Given the description of an element on the screen output the (x, y) to click on. 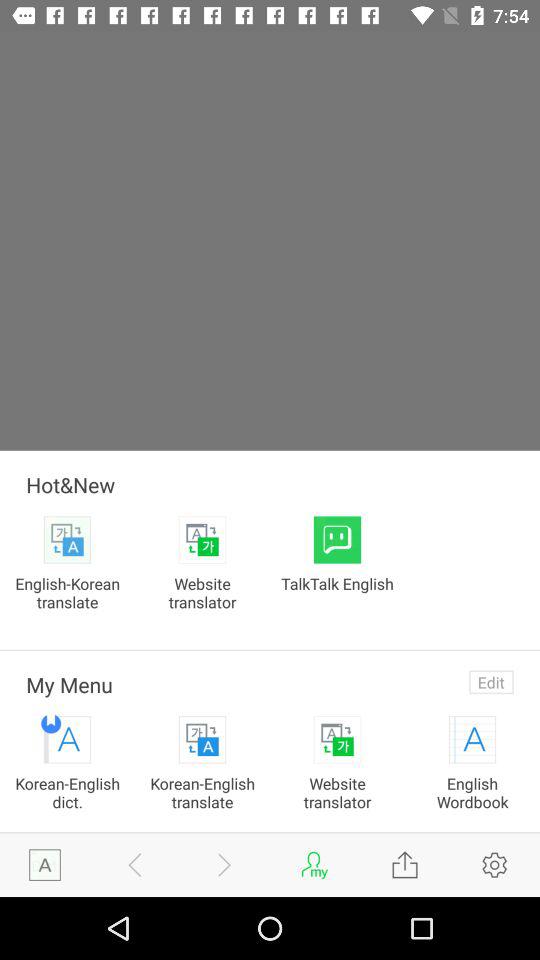
launch the item to the right of my menu (491, 682)
